Given the description of an element on the screen output the (x, y) to click on. 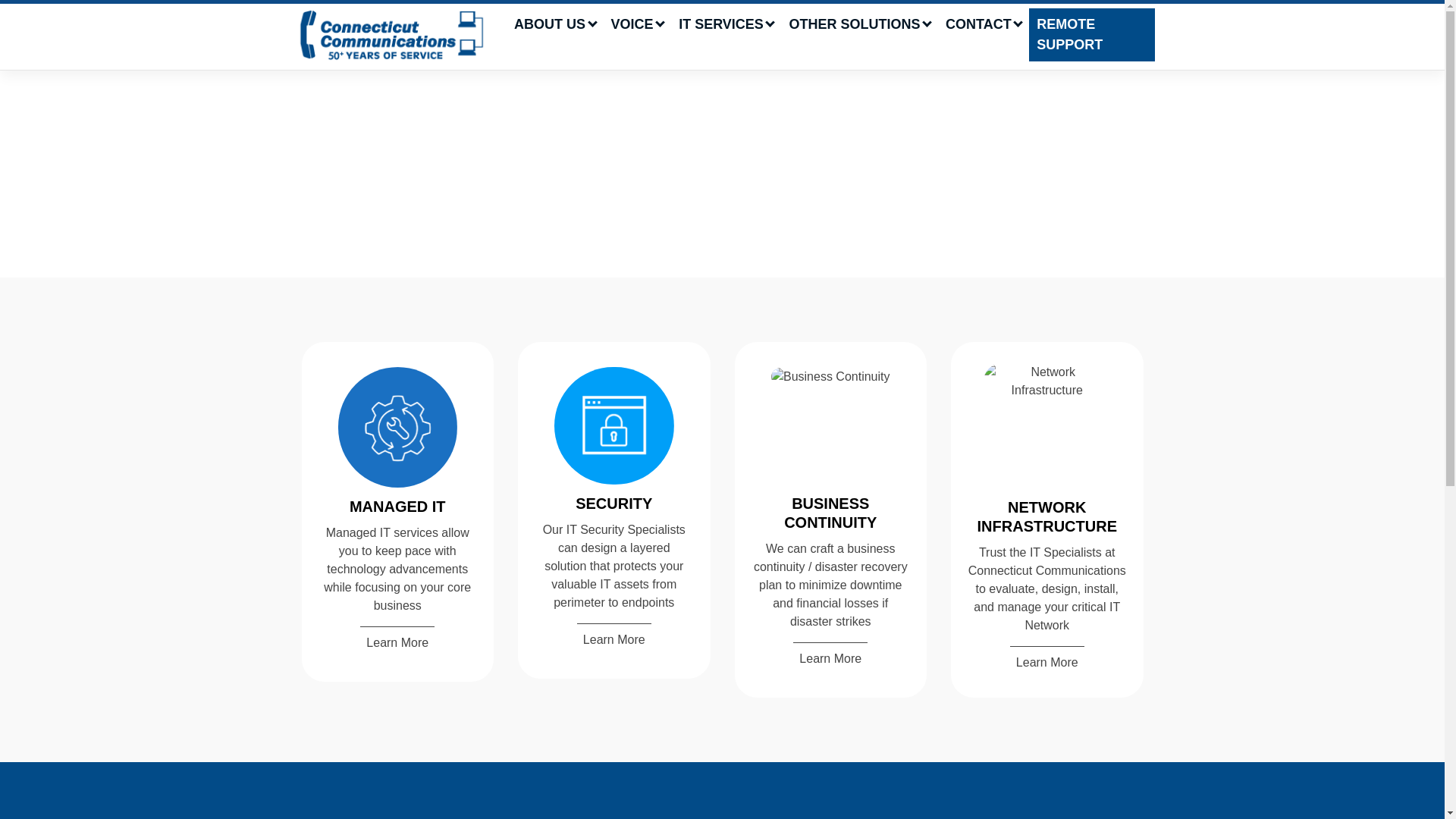
IT Services (725, 24)
Learn More (396, 640)
IT SERVICES (725, 24)
Voice (637, 24)
Learn More (1047, 660)
Learn More (830, 656)
OTHER SOLUTIONS (858, 24)
Learn More (613, 637)
REMOTE SUPPORT (1091, 34)
ABOUT US (555, 24)
